Given the description of an element on the screen output the (x, y) to click on. 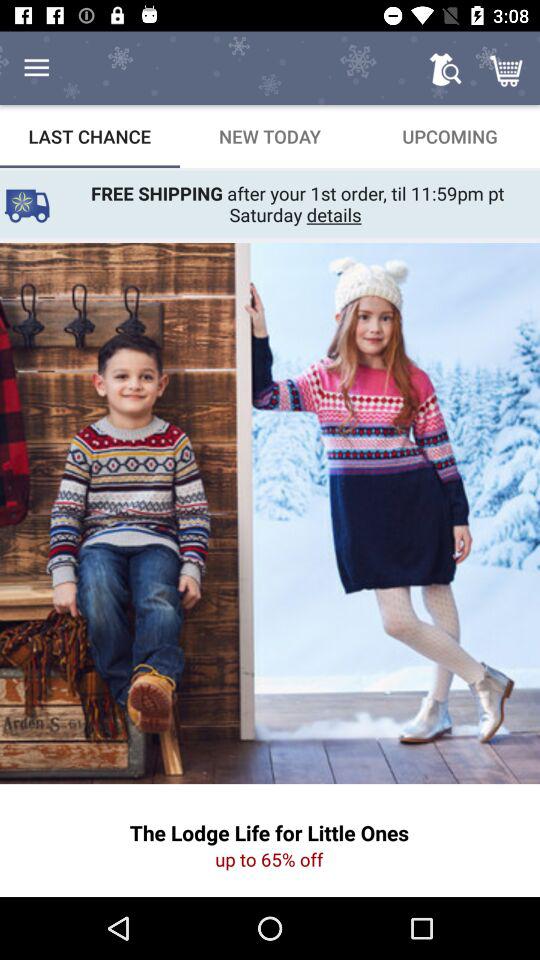
select the item above upcoming icon (508, 67)
